Given the description of an element on the screen output the (x, y) to click on. 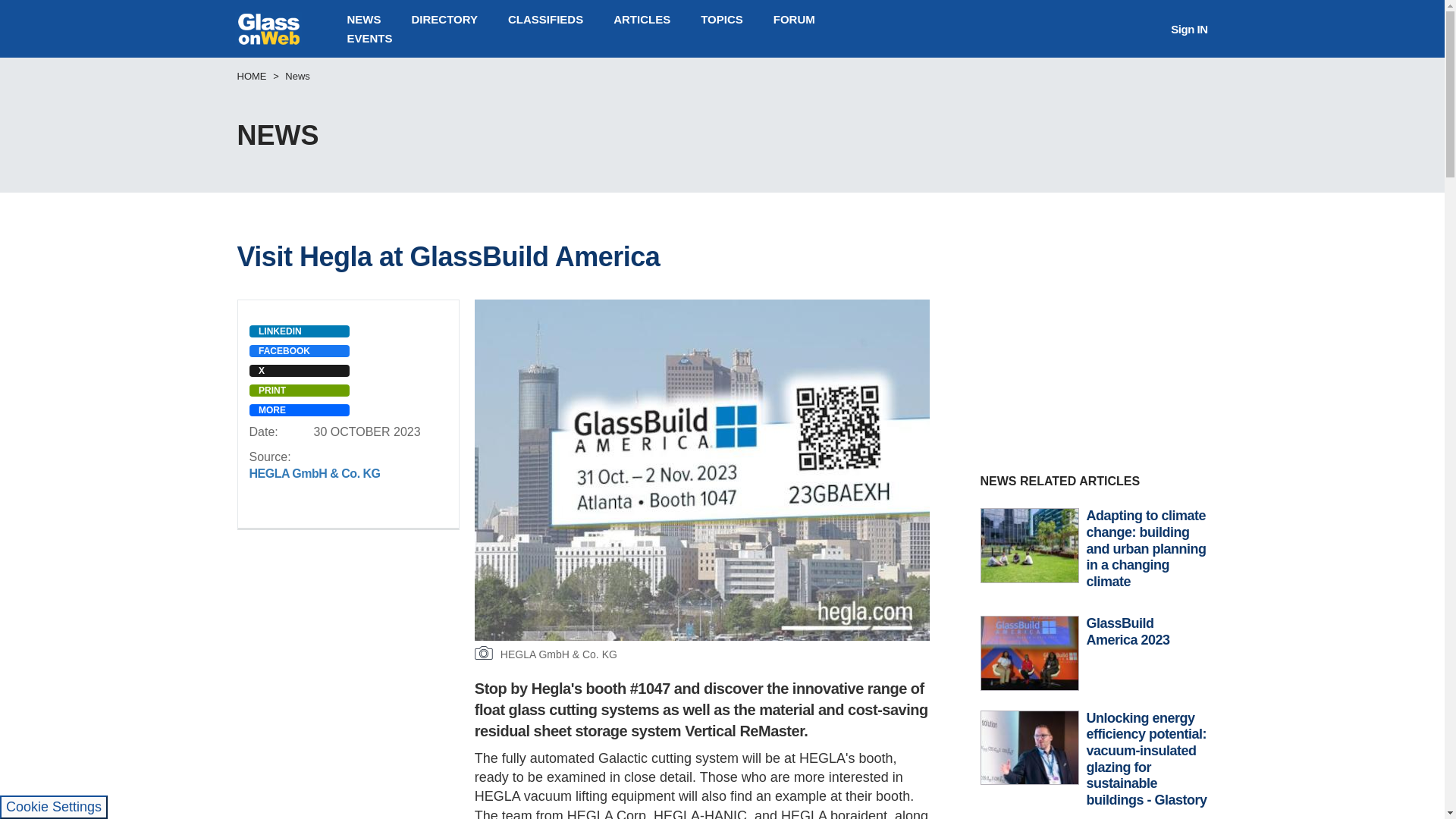
DIRECTORY (444, 19)
Sign IN (1188, 28)
News (297, 75)
PRINT (298, 390)
EVENTS (369, 38)
FACEBOOK (298, 350)
FORUM (793, 19)
3rd party ad content (1093, 348)
